Given the description of an element on the screen output the (x, y) to click on. 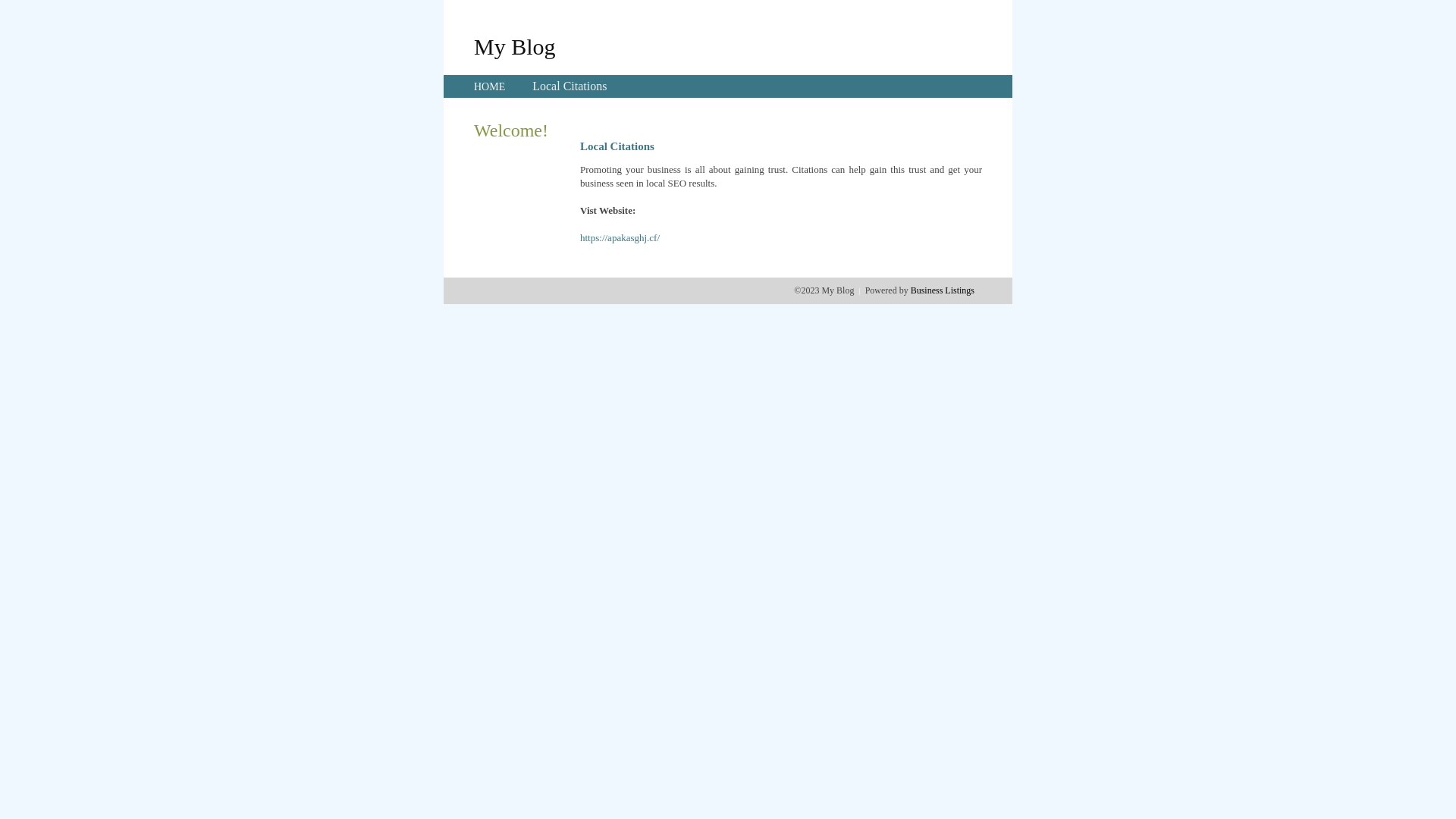
HOME Element type: text (489, 86)
Business Listings Element type: text (942, 290)
Local Citations Element type: text (569, 85)
https://apakasghj.cf/ Element type: text (619, 237)
My Blog Element type: text (514, 46)
